Given the description of an element on the screen output the (x, y) to click on. 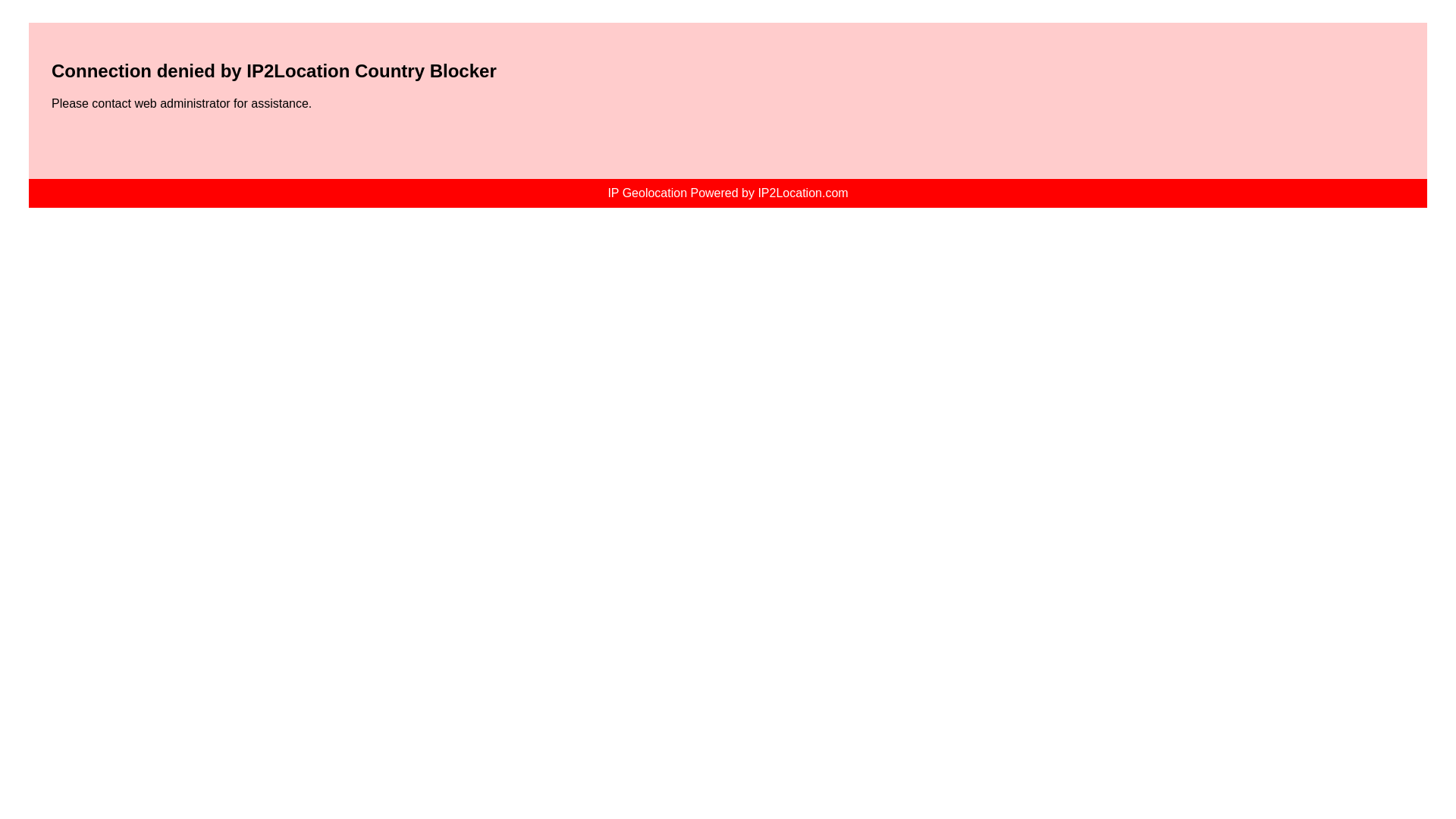
IP Geolocation Powered by IP2Location.com (727, 192)
